Given the description of an element on the screen output the (x, y) to click on. 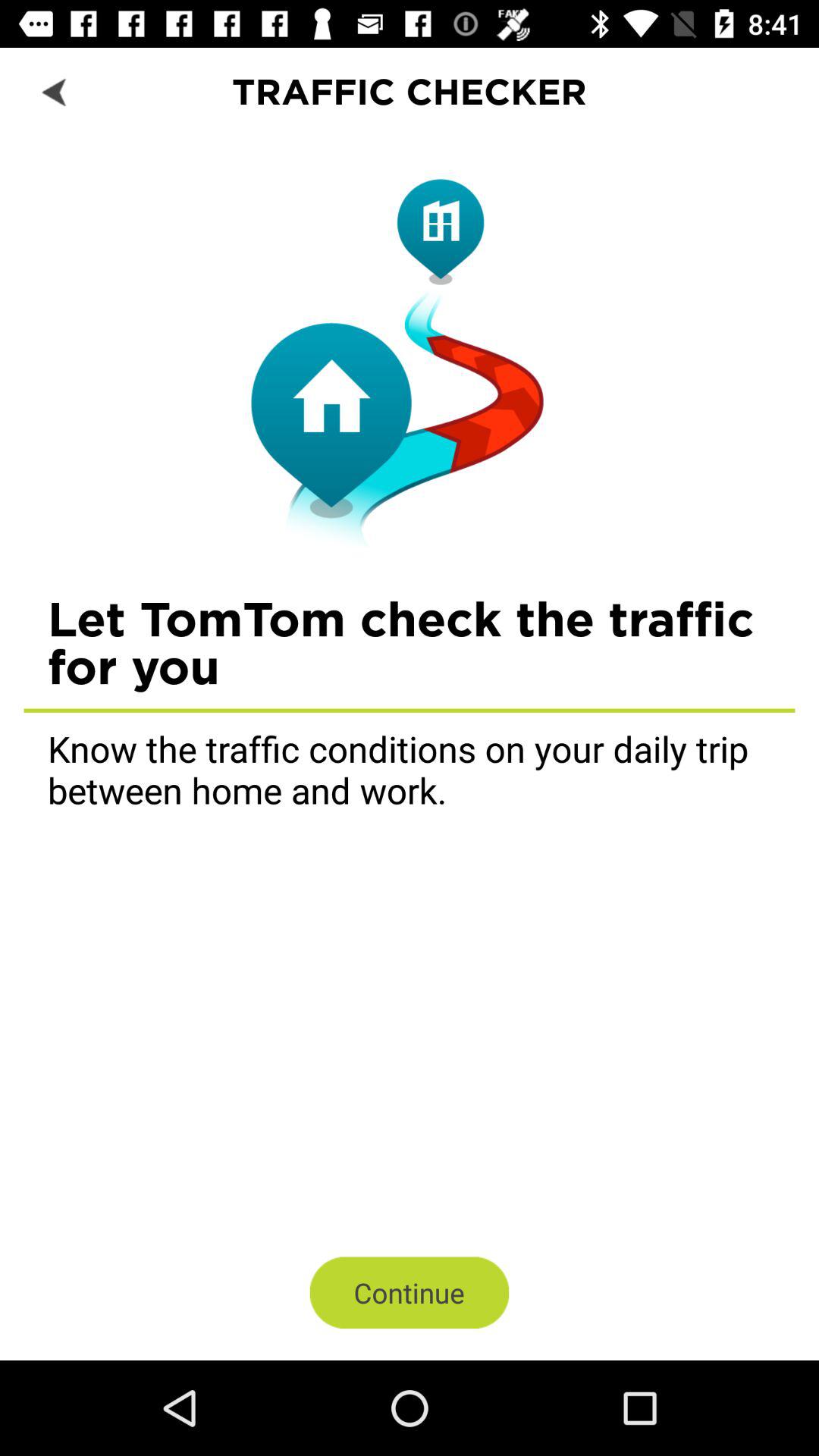
go back (55, 91)
